Given the description of an element on the screen output the (x, y) to click on. 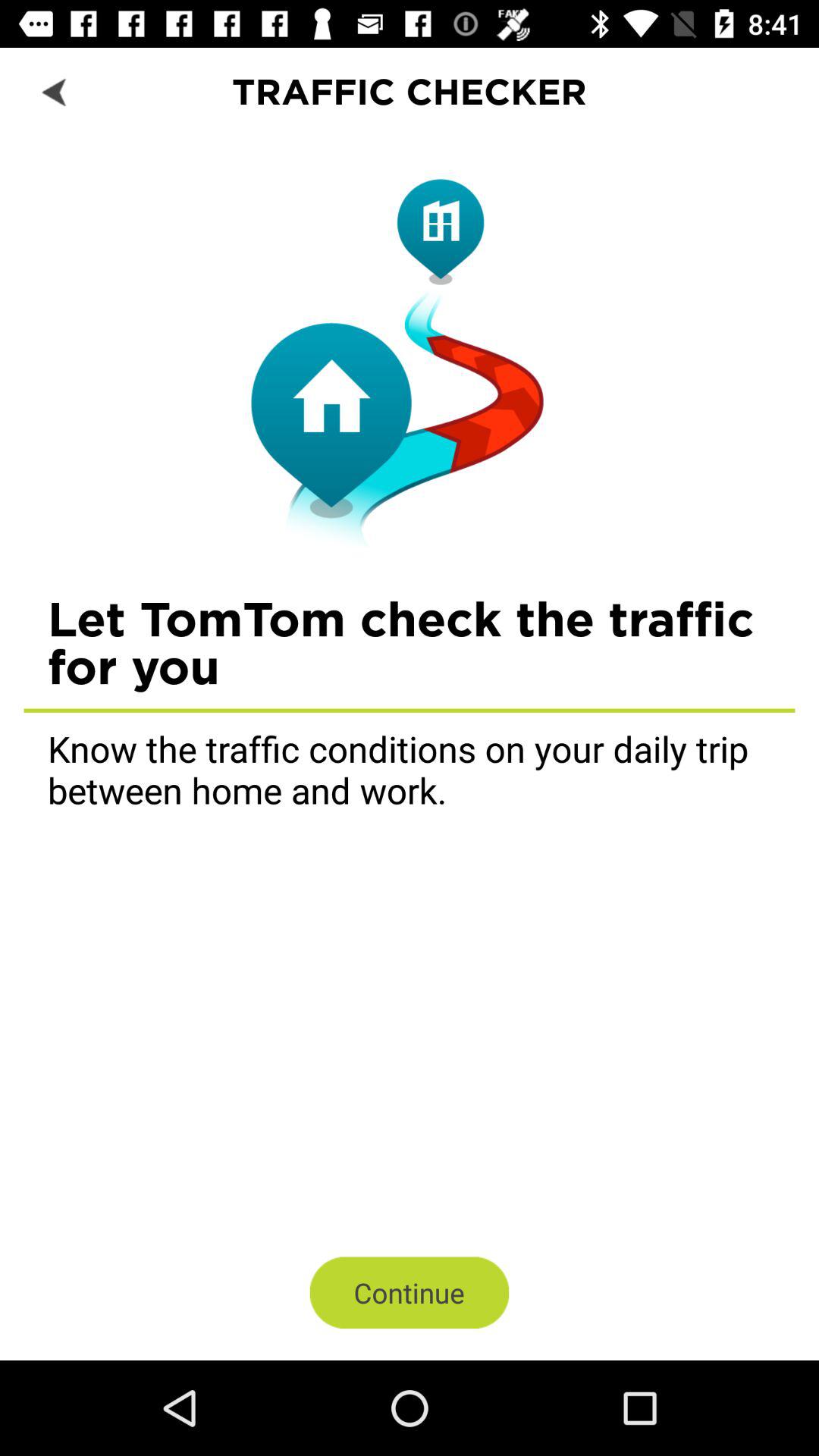
go back (55, 91)
